Given the description of an element on the screen output the (x, y) to click on. 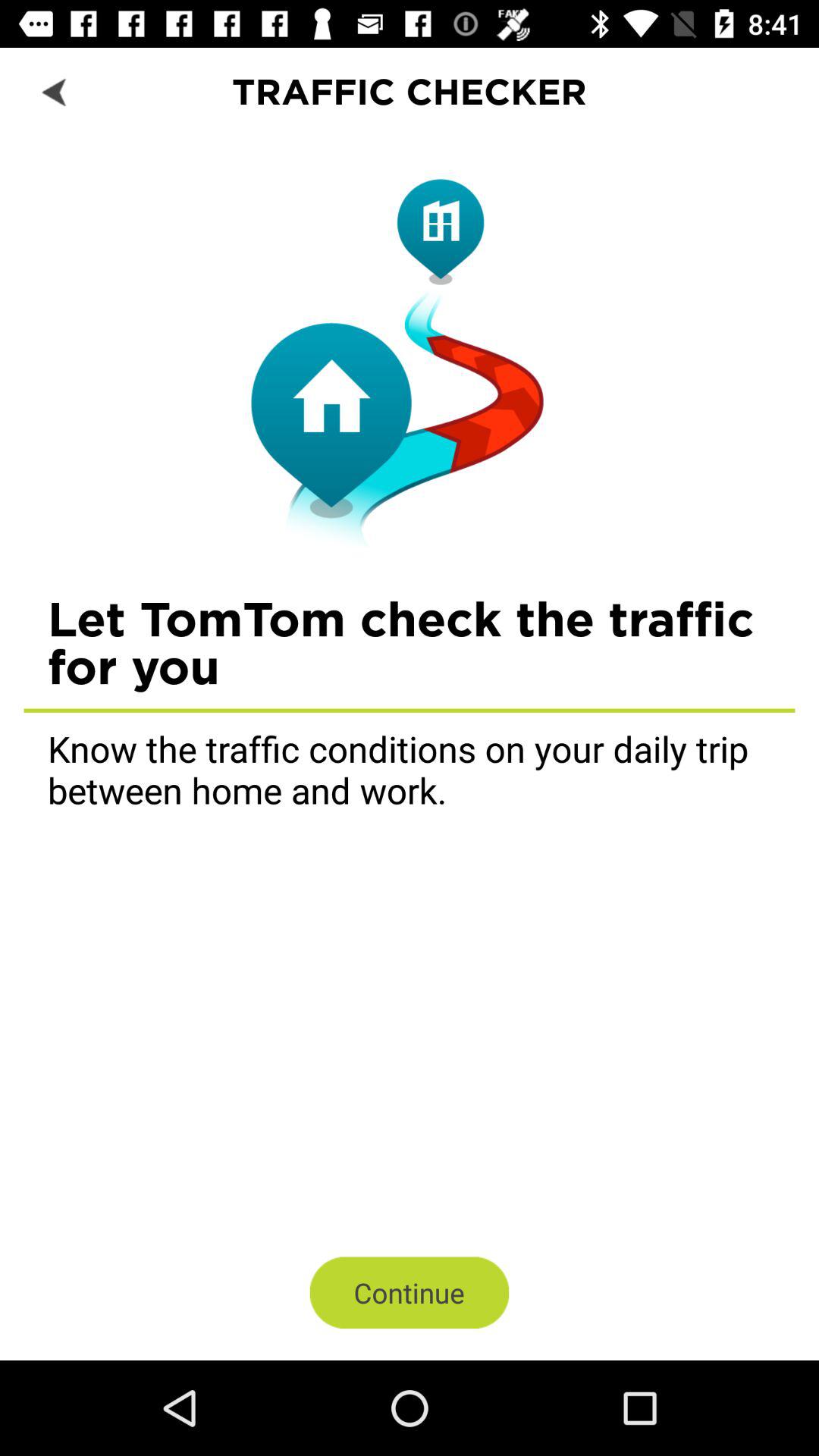
go back (55, 91)
